Given the description of an element on the screen output the (x, y) to click on. 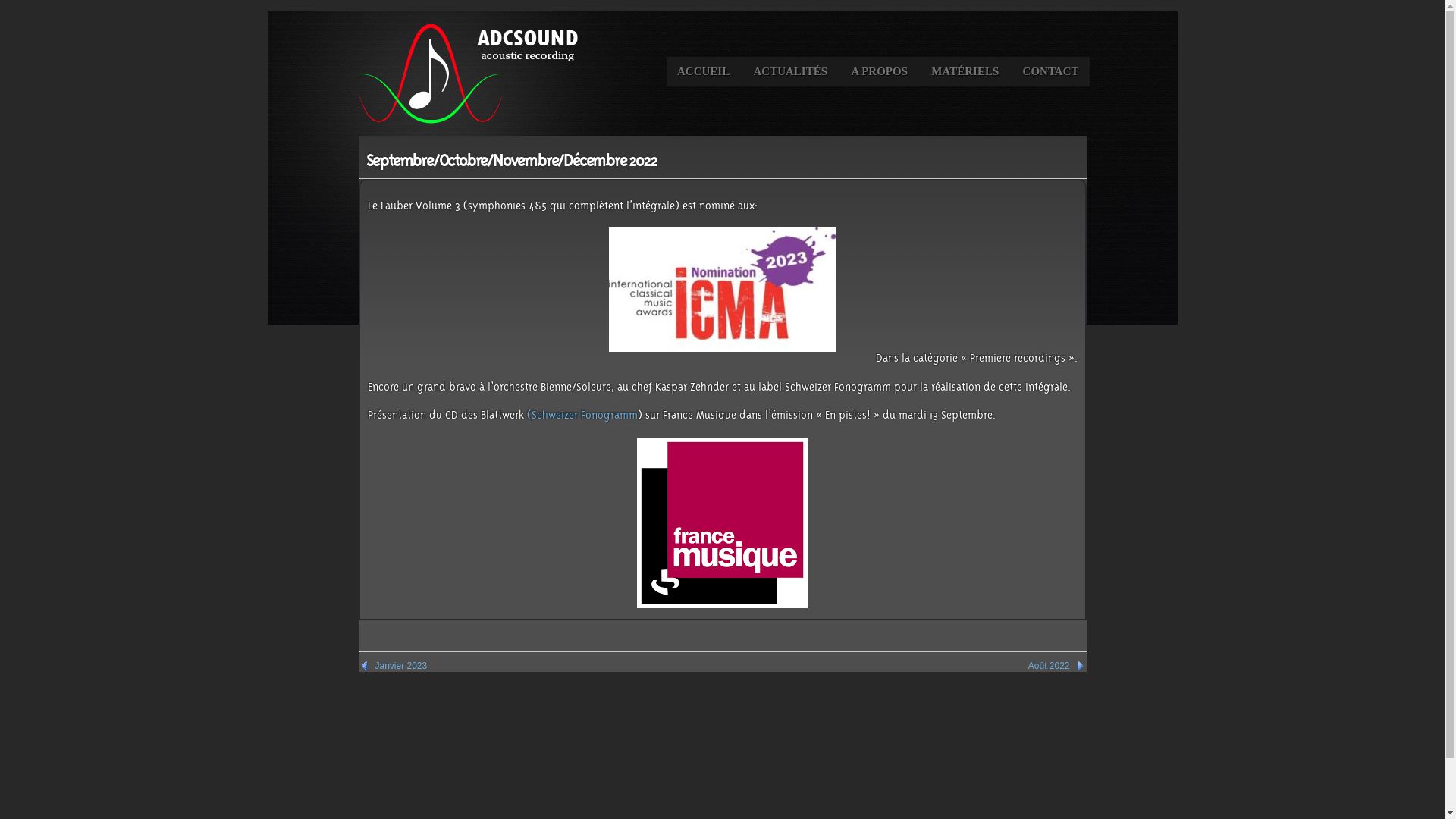
A PROPOS Element type: text (879, 71)
(Schweizer Fonogramm Element type: text (581, 414)
ACCUEIL Element type: text (703, 71)
ADCSound Element type: text (467, 73)
CONTACT Element type: text (1050, 71)
Janvier 2023 Element type: text (391, 665)
